Given the description of an element on the screen output the (x, y) to click on. 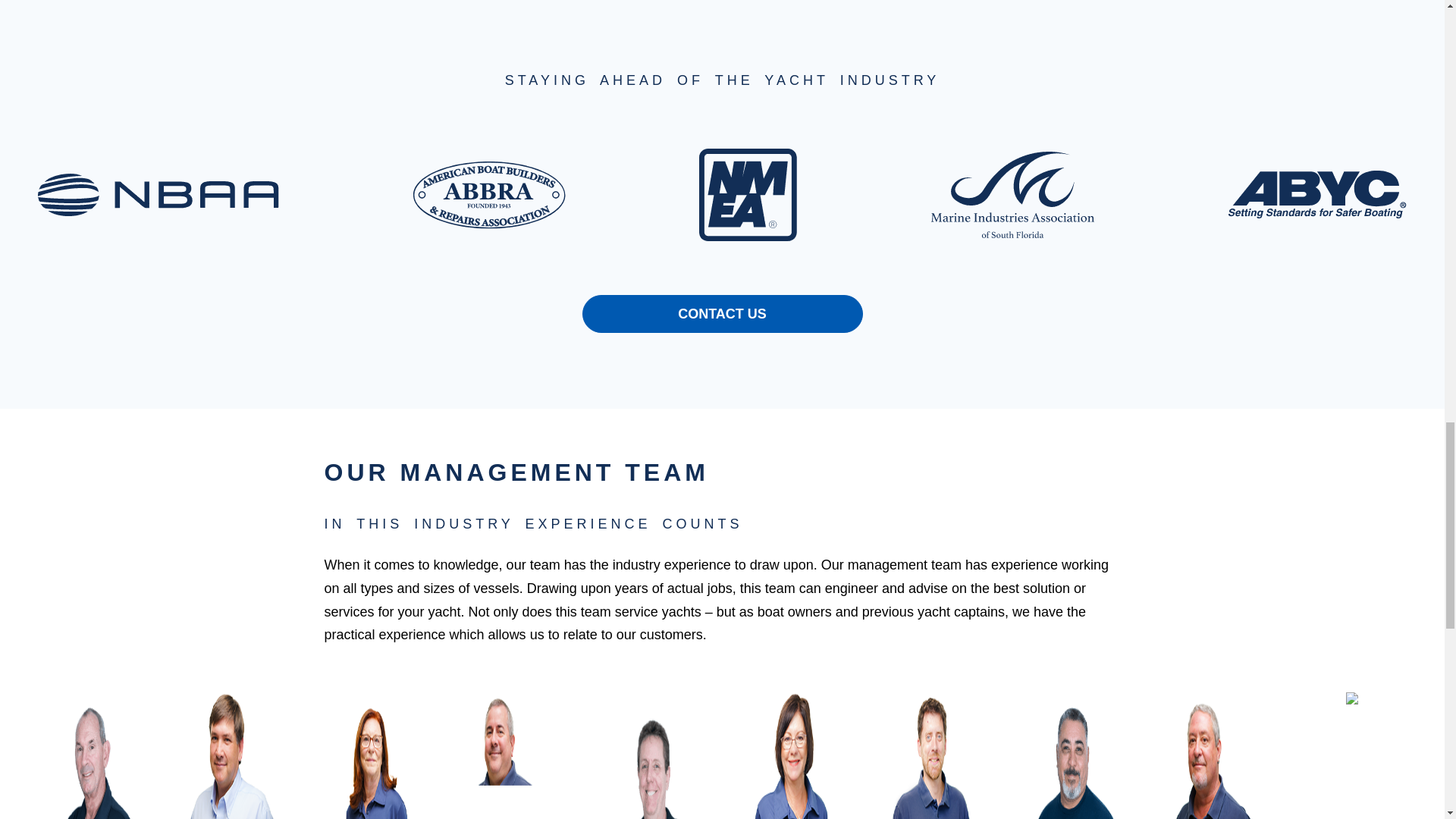
CONTACT US (722, 313)
